Given the description of an element on the screen output the (x, y) to click on. 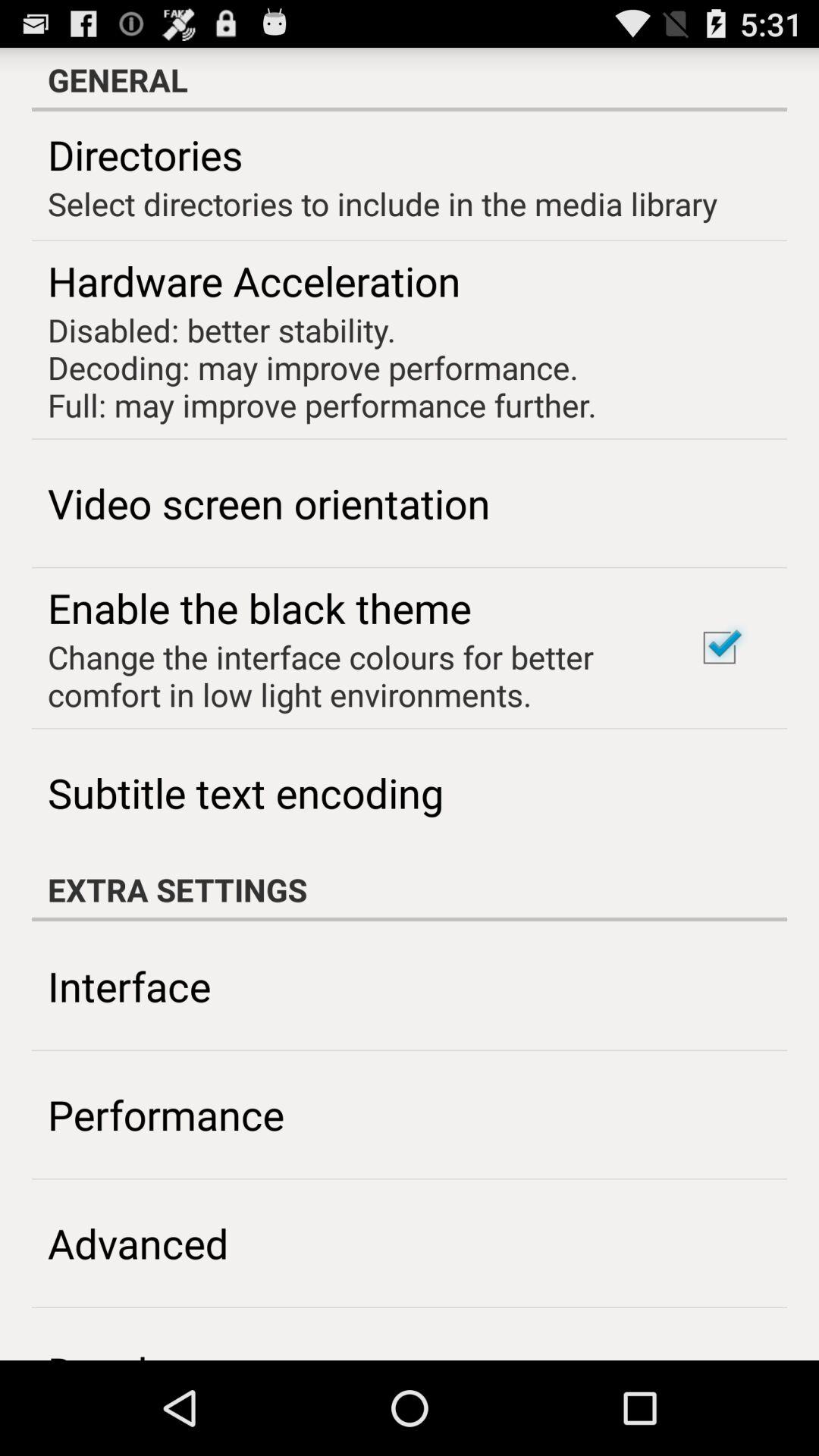
tap icon below the enable the black icon (351, 675)
